Given the description of an element on the screen output the (x, y) to click on. 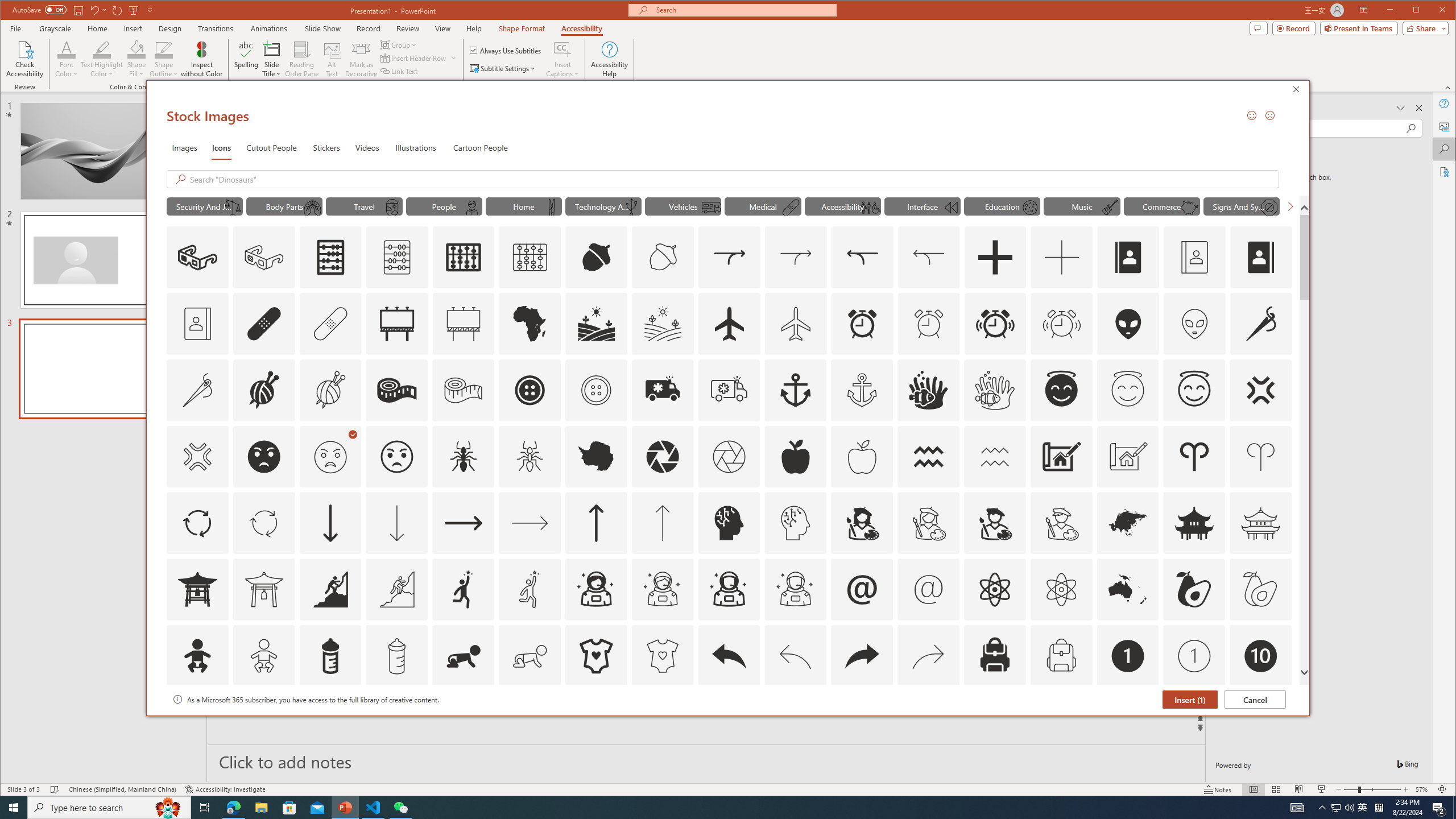
AutomationID: Icons_ArtificialIntelligence_M (795, 522)
AutomationID: Icons_AstronautMale (729, 589)
AutomationID: Icons_At (861, 589)
Next Search Suggestion (1290, 206)
WeChat - 1 running window (400, 807)
AutomationID: Icons_Abacus1 (462, 256)
Alt Text (331, 59)
AutomationID: Icons_AngelFace_M (1128, 389)
AutomationID: Icons_Apple_M (861, 456)
Insert Header Row (418, 57)
